Given the description of an element on the screen output the (x, y) to click on. 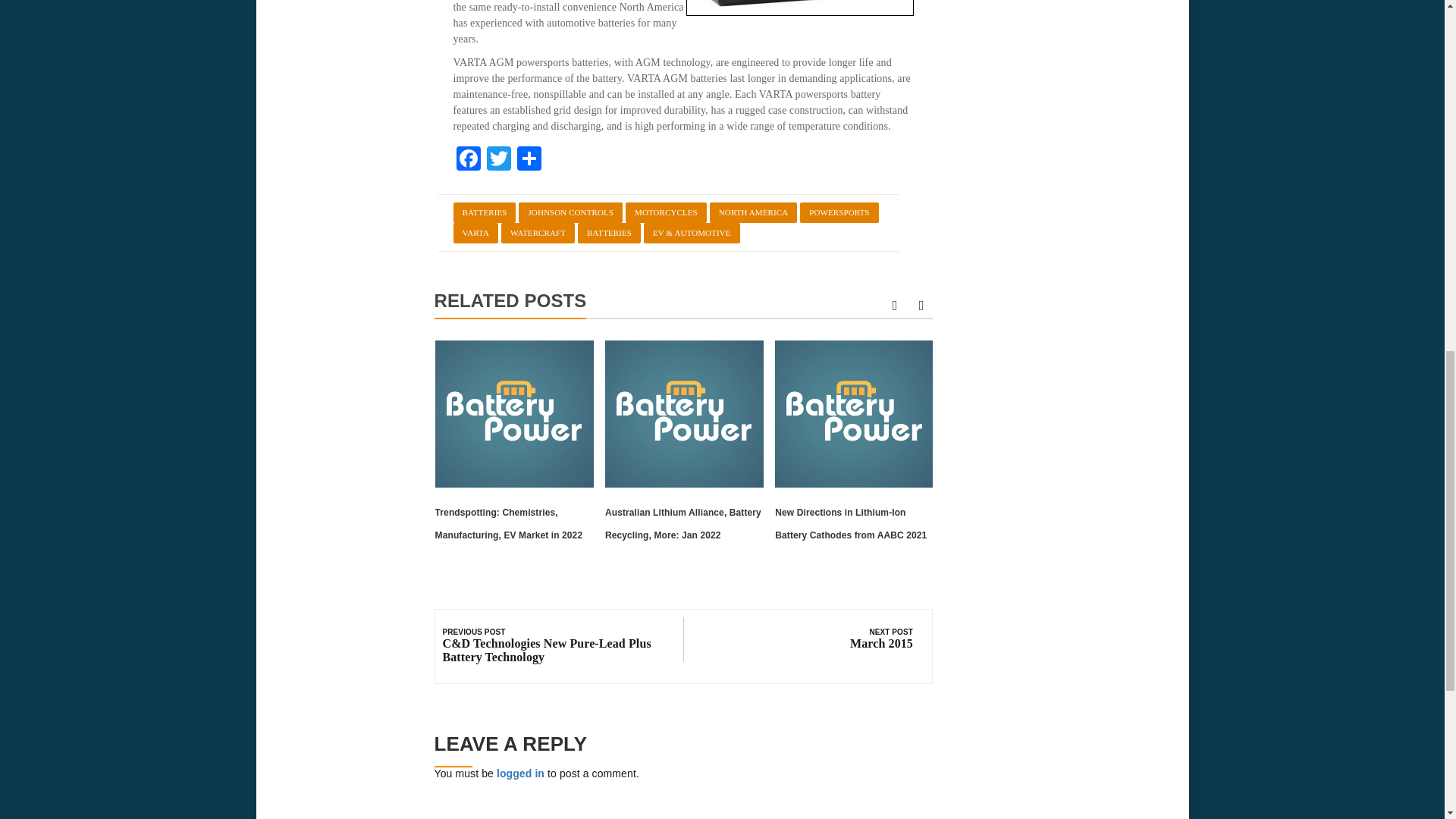
Facebook (467, 160)
Twitter (498, 160)
EB12-4 BEST (799, 7)
